Given the description of an element on the screen output the (x, y) to click on. 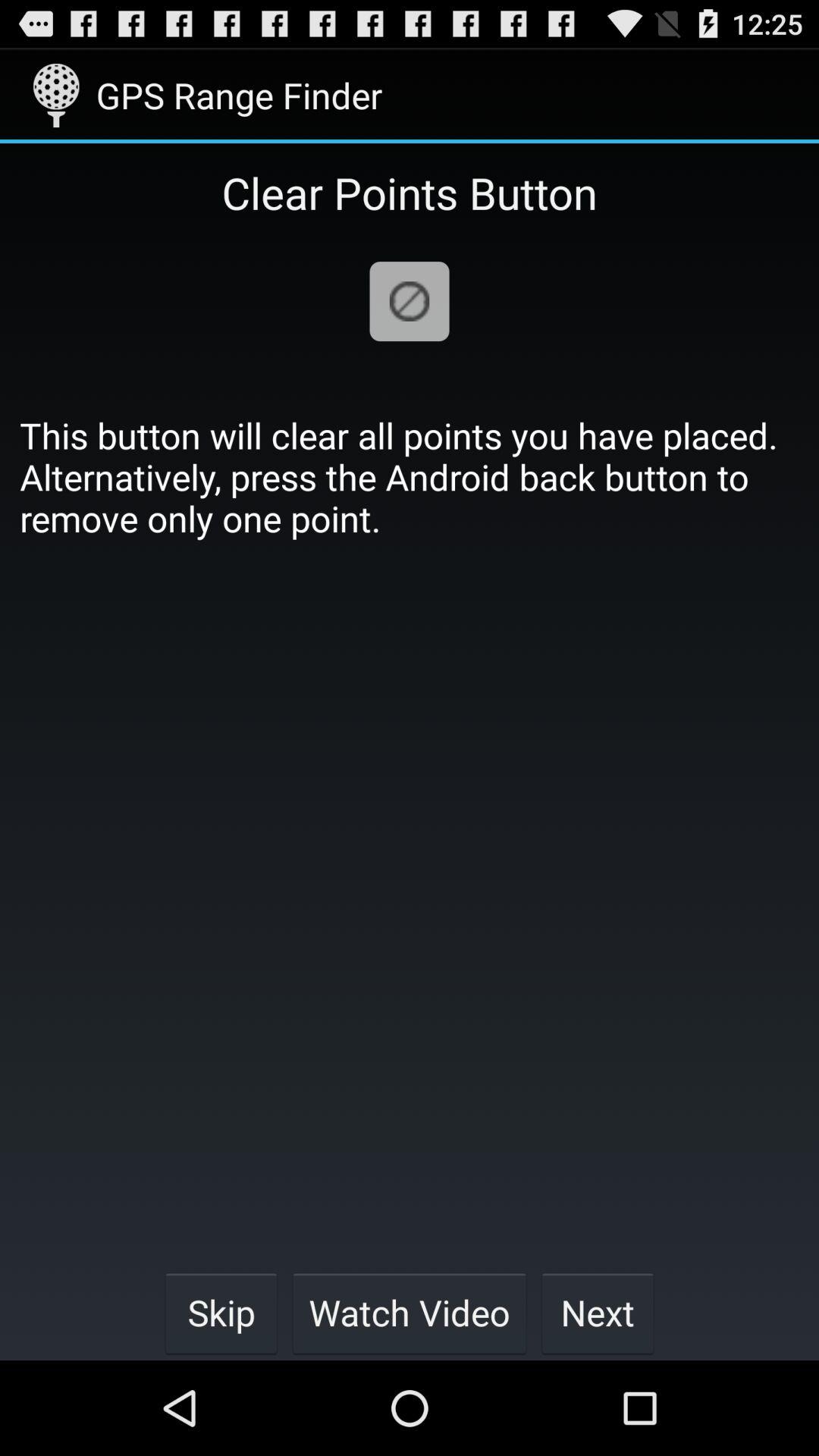
choose item next to watch video item (220, 1312)
